Given the description of an element on the screen output the (x, y) to click on. 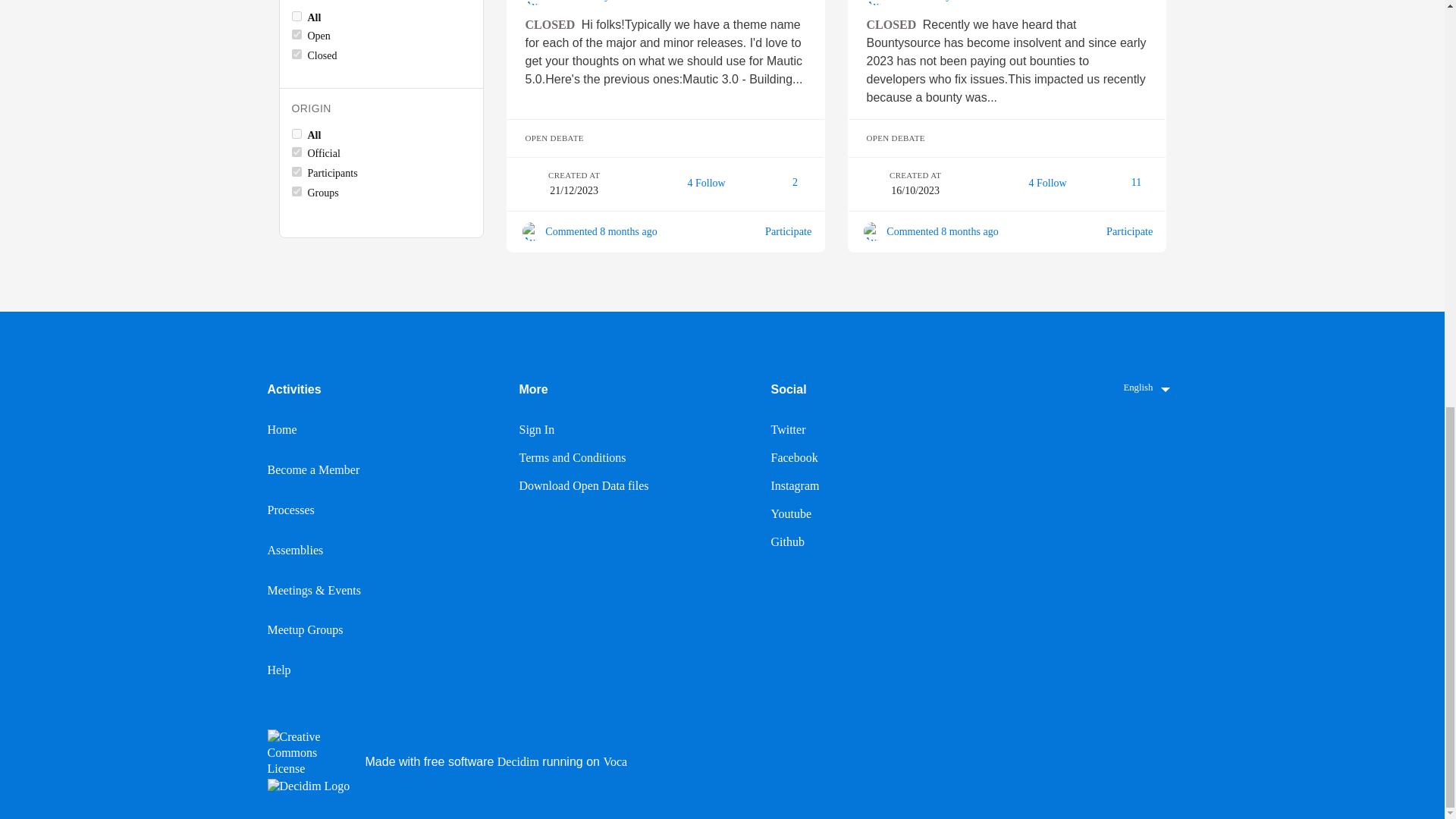
verified-badge (1007, 231)
Comments count: (786, 182)
closed (296, 53)
BELL (681, 183)
Comments count (790, 182)
Please sign in before performing this action (1042, 183)
Comments count (1131, 182)
verified-badge (666, 231)
